Given the description of an element on the screen output the (x, y) to click on. 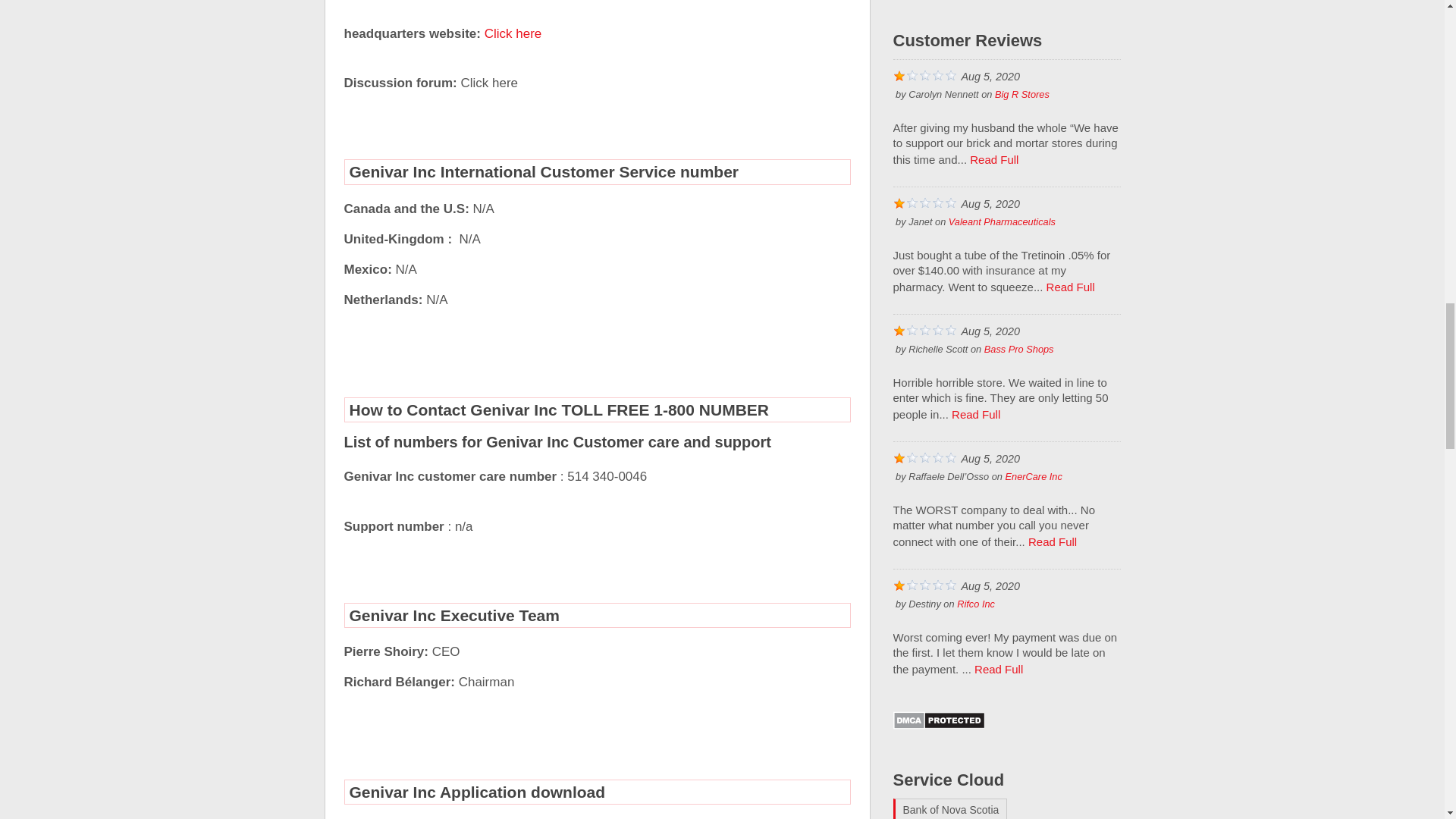
Read Full (993, 159)
Valeant Pharmaceuticals (1002, 221)
Big R Stores (1021, 93)
Click here (512, 33)
